Given the description of an element on the screen output the (x, y) to click on. 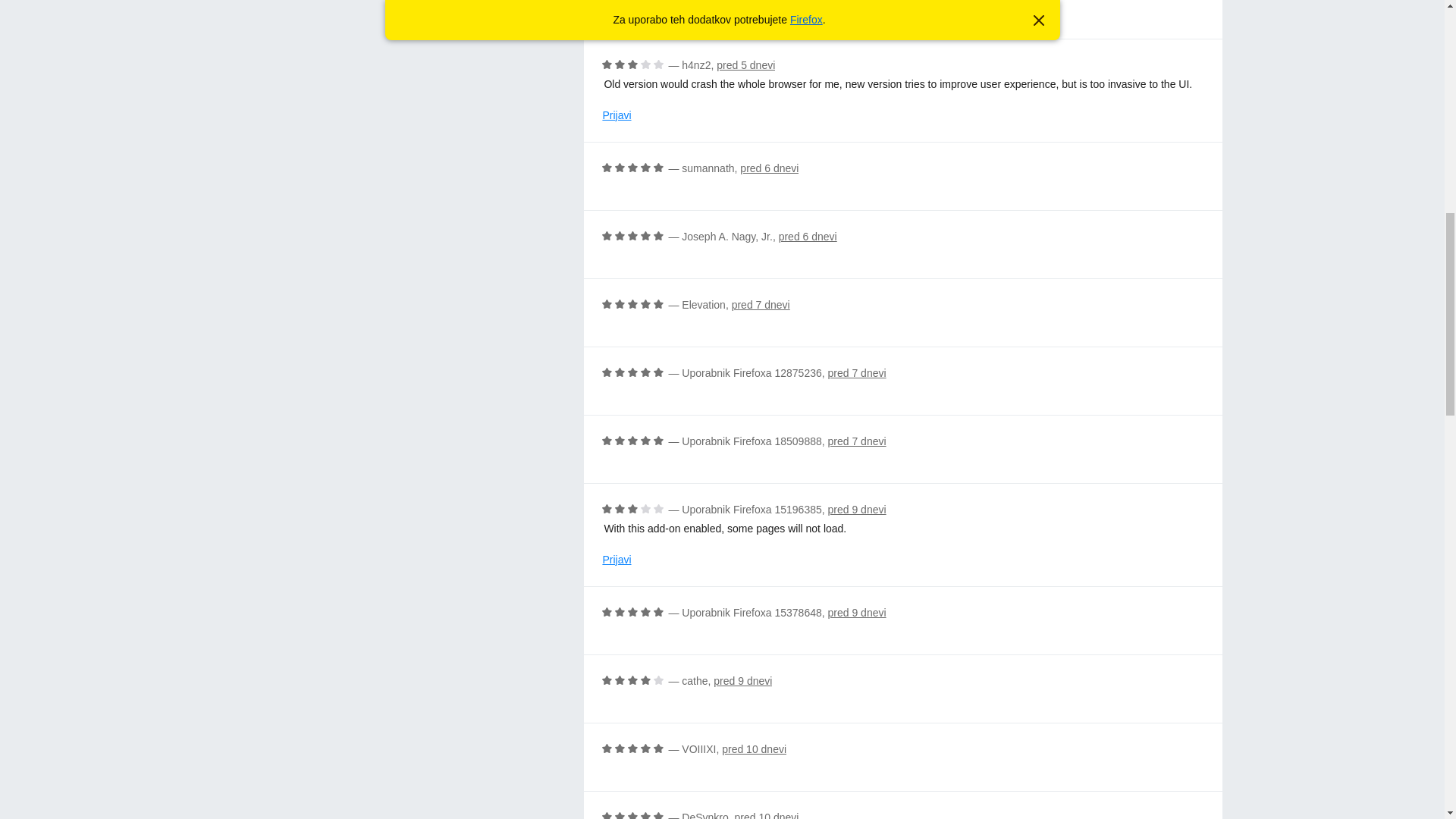
pred 9 dnevi (857, 509)
pred 9 dnevi (742, 680)
Prijavi (616, 115)
pred 9 dnevi (857, 612)
pred 10 dnevi (767, 815)
pred 7 dnevi (761, 304)
pred 7 dnevi (857, 440)
pred 6 dnevi (768, 168)
pred 5 dnevi (745, 64)
pred 7 dnevi (857, 372)
pred 10 dnevi (754, 748)
Prijavi (616, 560)
pred 6 dnevi (807, 236)
pred 5 dnevi (857, 1)
